Given the description of an element on the screen output the (x, y) to click on. 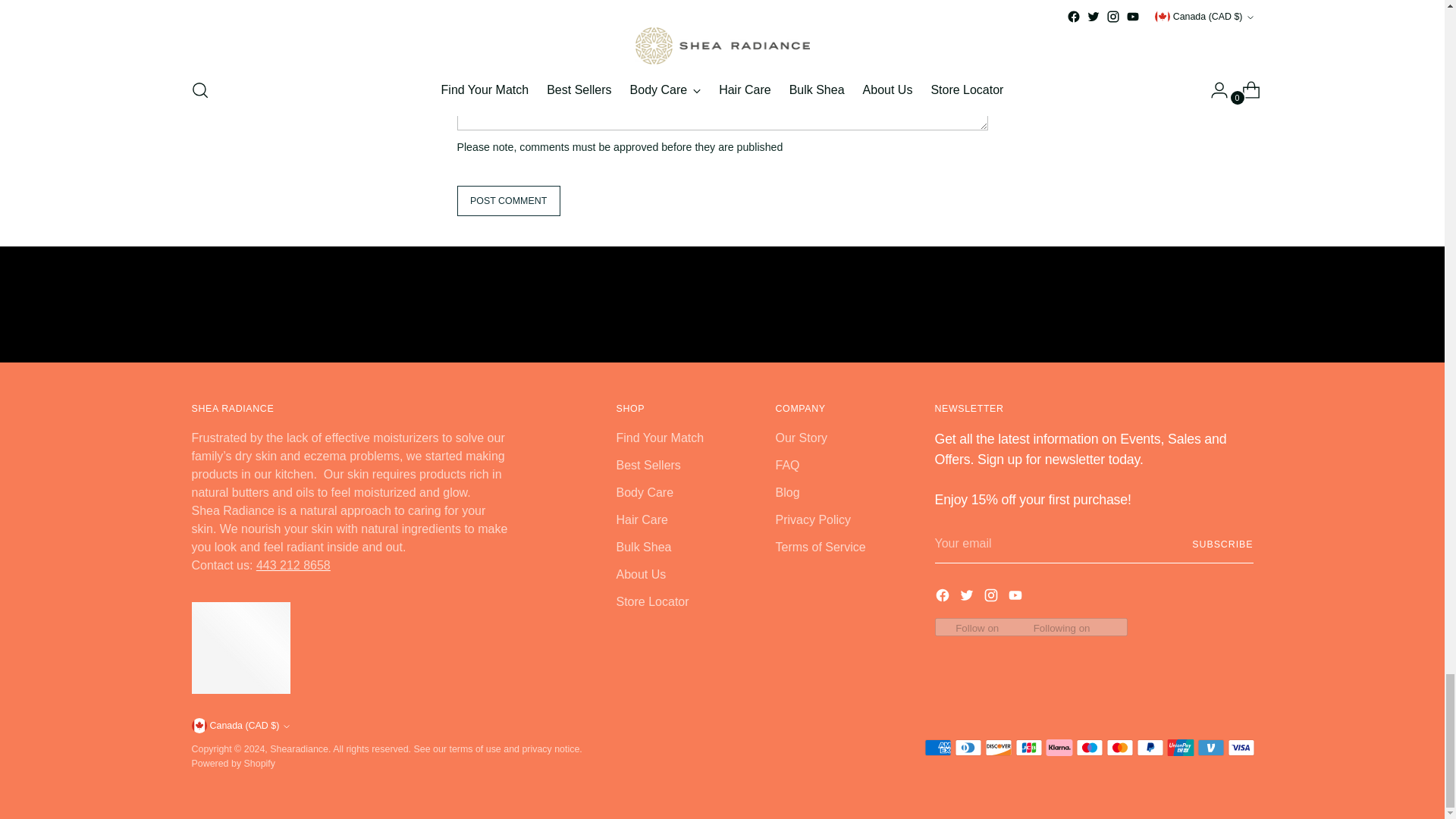
Shearadiance on Facebook (943, 598)
Shearadiance on Twitter (967, 598)
tel:443 212 8658 (293, 564)
